Given the description of an element on the screen output the (x, y) to click on. 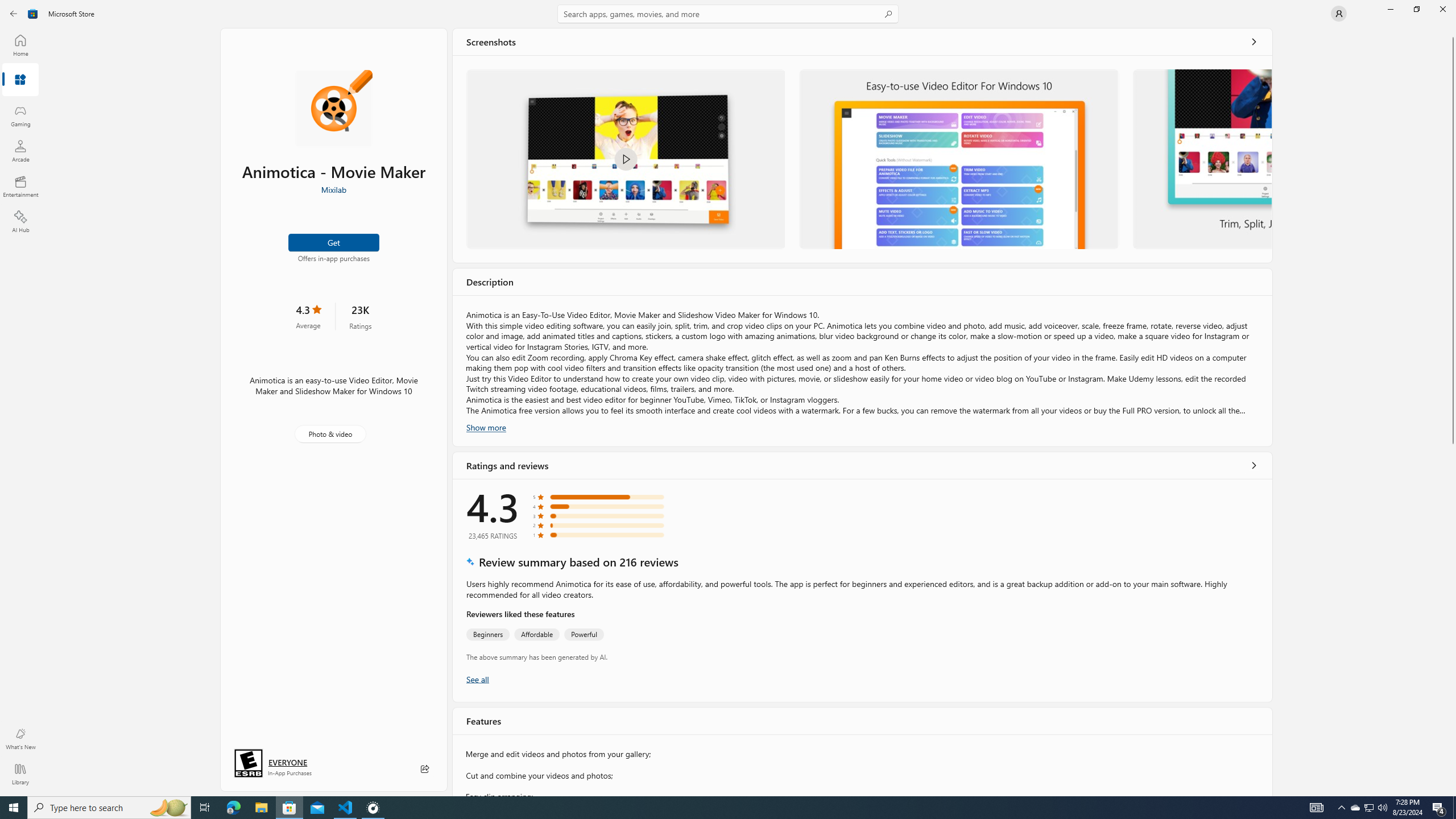
Welcome to Animotica (624, 158)
Vertical (1452, 412)
4.3 stars. Click to skip to ratings and reviews (307, 315)
Photo & video (329, 434)
Trim, Split, Join Video and Photo in Animotica (1201, 158)
Mixilab (333, 189)
Vertical Small Increase (1452, 792)
Show all ratings and reviews (1253, 465)
